Given the description of an element on the screen output the (x, y) to click on. 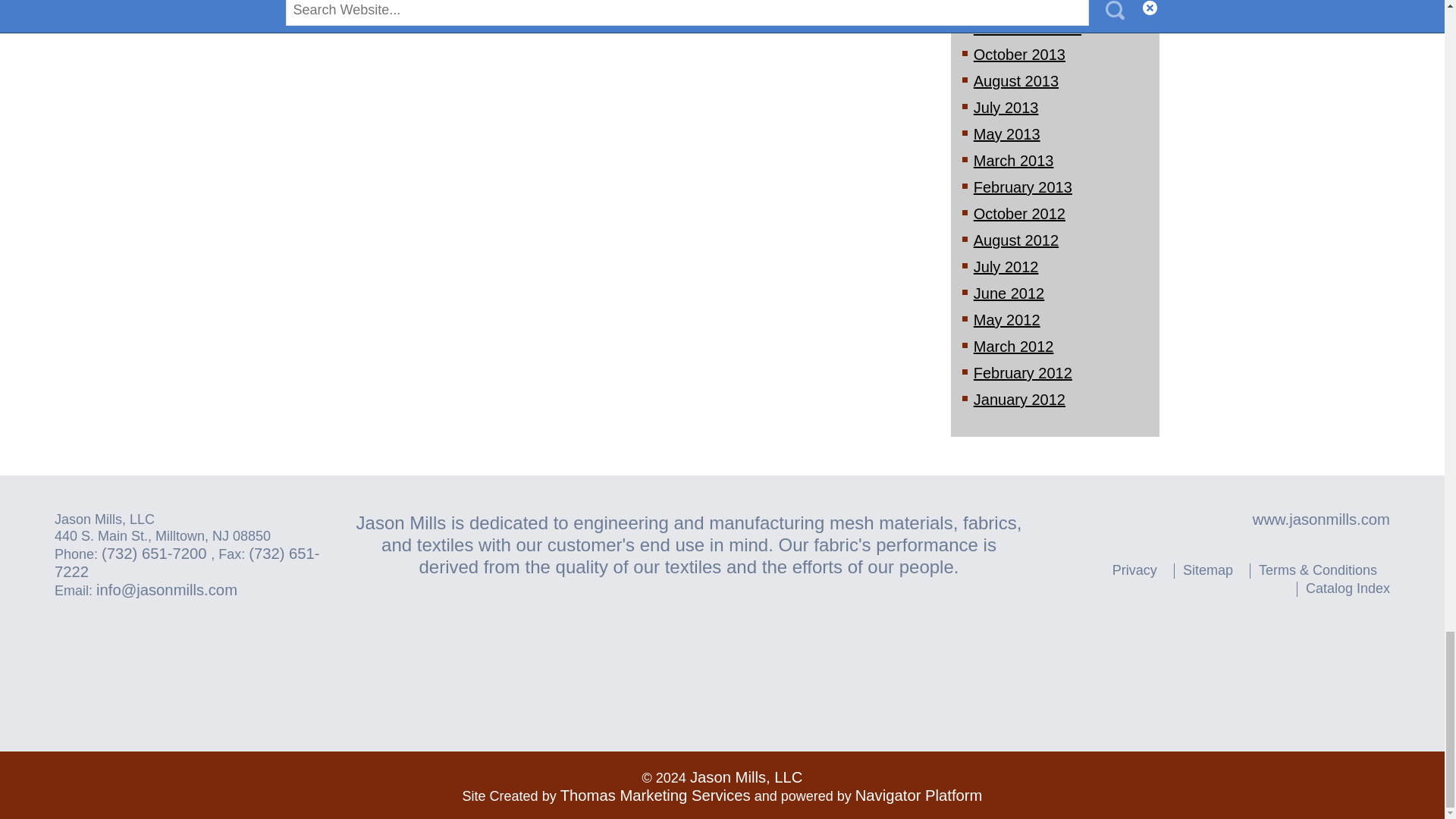
Fax (187, 562)
Email (166, 589)
Call (156, 553)
